Given the description of an element on the screen output the (x, y) to click on. 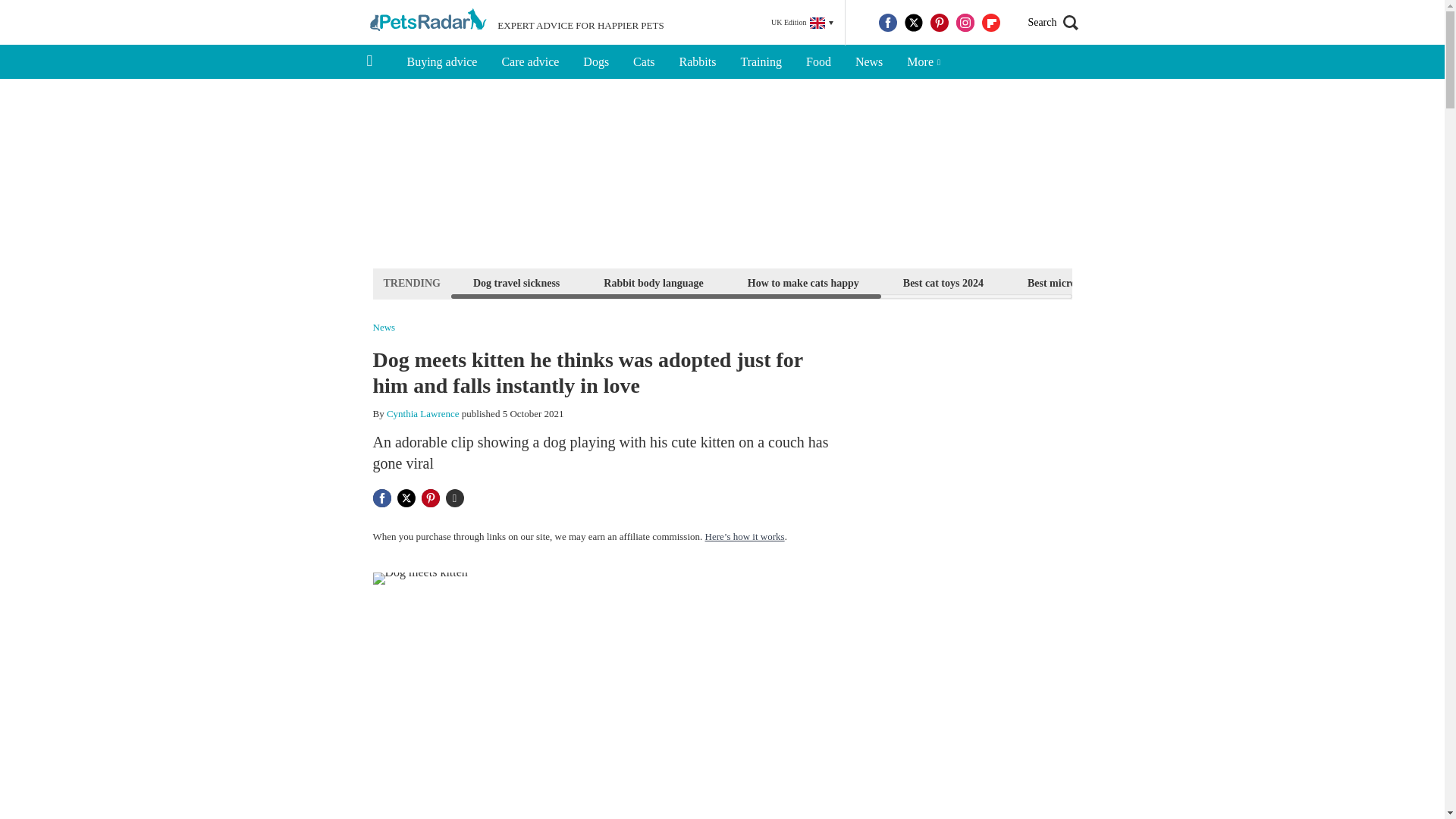
Food (818, 61)
Cynthia Lawrence (423, 413)
Best cat toys 2024 (943, 282)
Rabbit body language (652, 282)
Dog travel sickness (515, 282)
Care advice (529, 61)
Buying advice (441, 61)
EXPERT ADVICE FOR HAPPIER PETS (514, 22)
Rabbits (697, 61)
Dogs (595, 61)
Cats (643, 61)
Training (760, 61)
How to make cats happy (803, 282)
Best dog cooling mats 2024 (1265, 282)
Best microchip cat flaps 2024 (1094, 282)
